Given the description of an element on the screen output the (x, y) to click on. 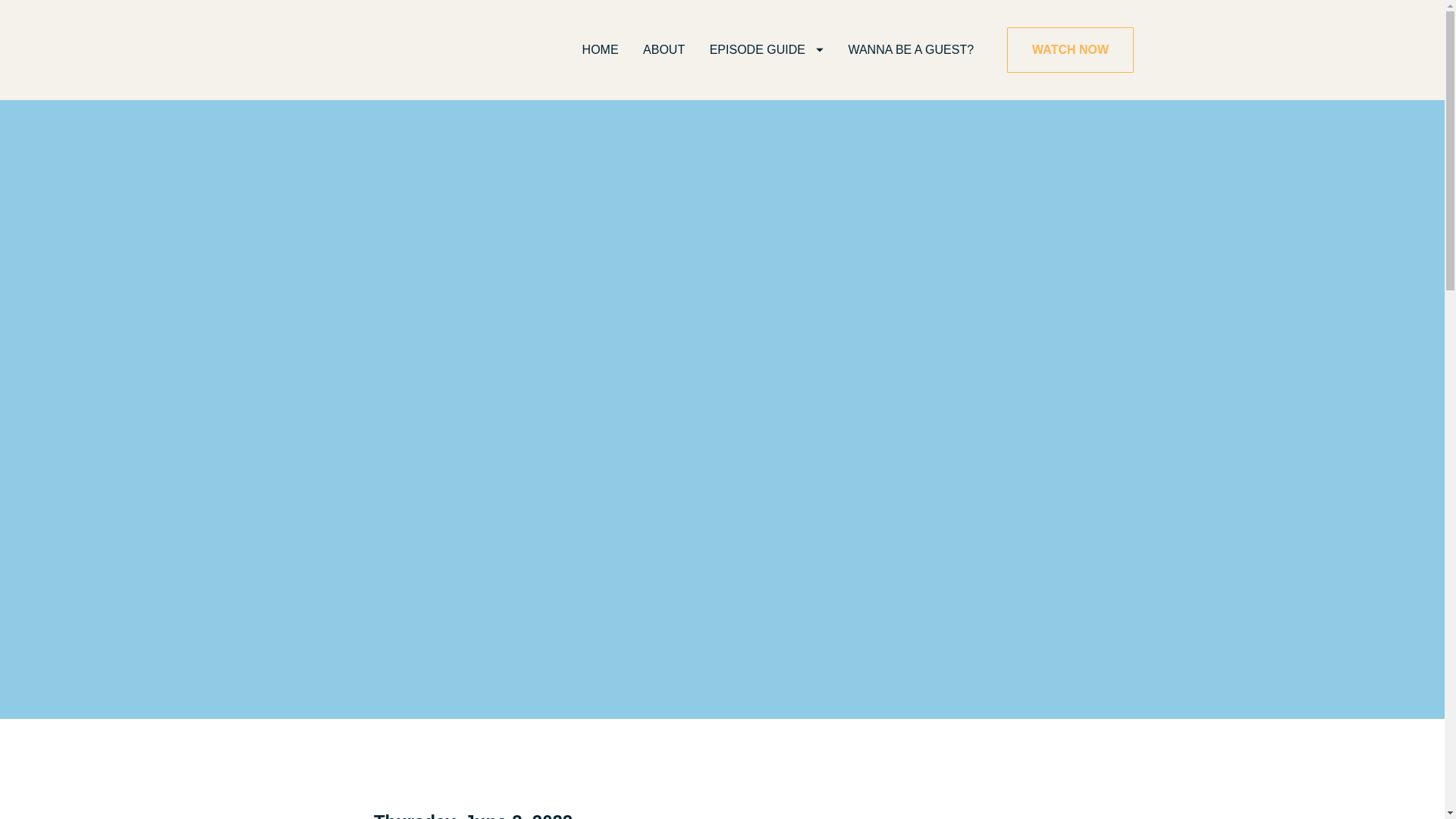
WANNA BE A GUEST? (910, 50)
HOME (600, 50)
ABOUT (663, 50)
EPISODE GUIDE (767, 50)
WATCH NOW (1070, 49)
